Given the description of an element on the screen output the (x, y) to click on. 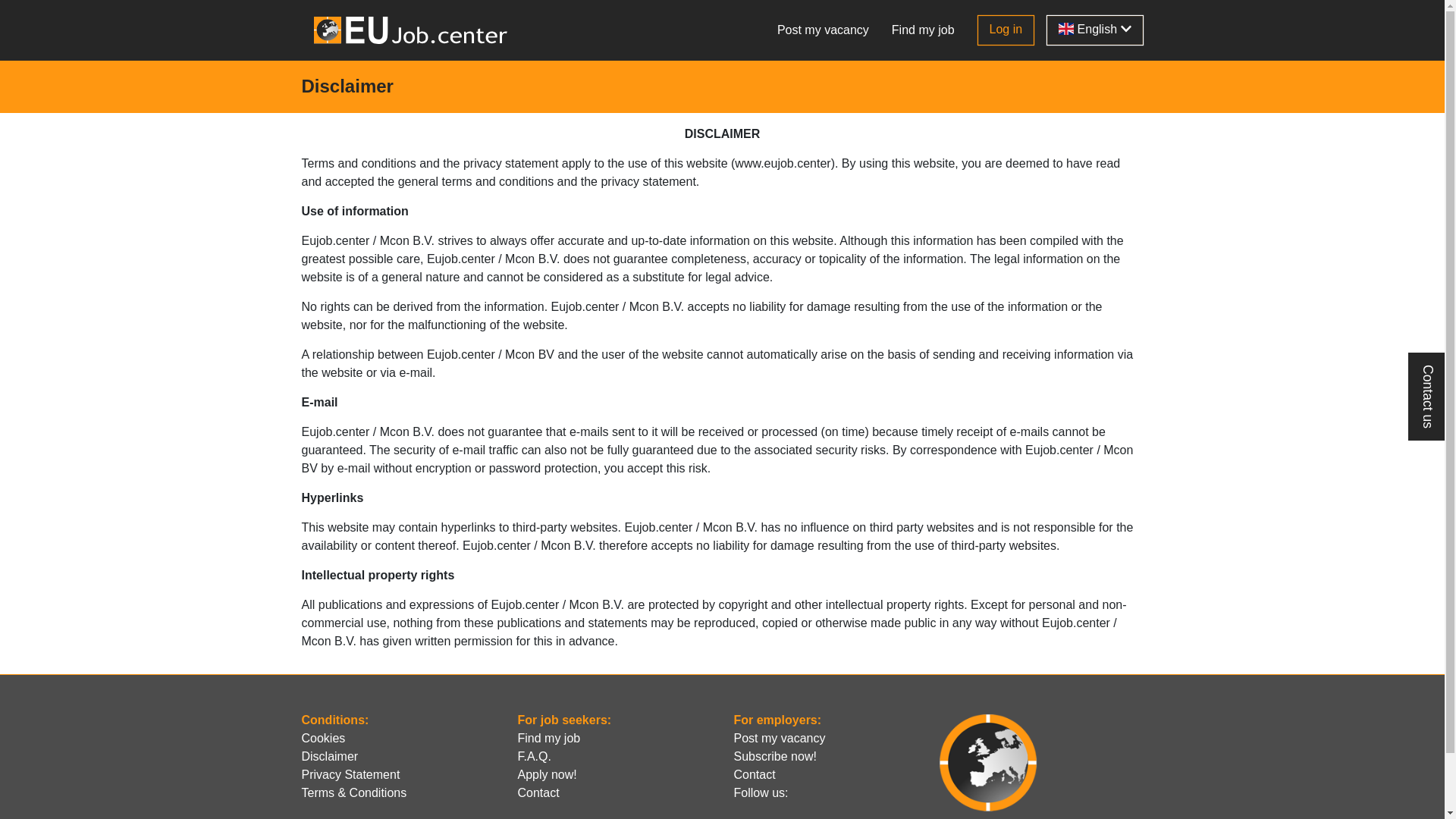
EUjob.center Element type: hover (410, 30)
Apply now! Element type: text (546, 774)
Find my job Element type: text (922, 30)
F.A.Q. Element type: text (533, 755)
Contact us Element type: text (1428, 396)
Subscribe now! Element type: text (775, 755)
Post my vacancy Element type: text (779, 737)
Contact Element type: text (754, 774)
Find my job Element type: text (548, 737)
Terms & Conditions Element type: text (354, 792)
Privacy Statement Element type: text (350, 774)
Disclaimer Element type: text (329, 755)
Cookies Element type: text (323, 737)
Log in Element type: text (1006, 30)
Post my vacancy Element type: text (823, 30)
Contact Element type: text (537, 792)
